Given the description of an element on the screen output the (x, y) to click on. 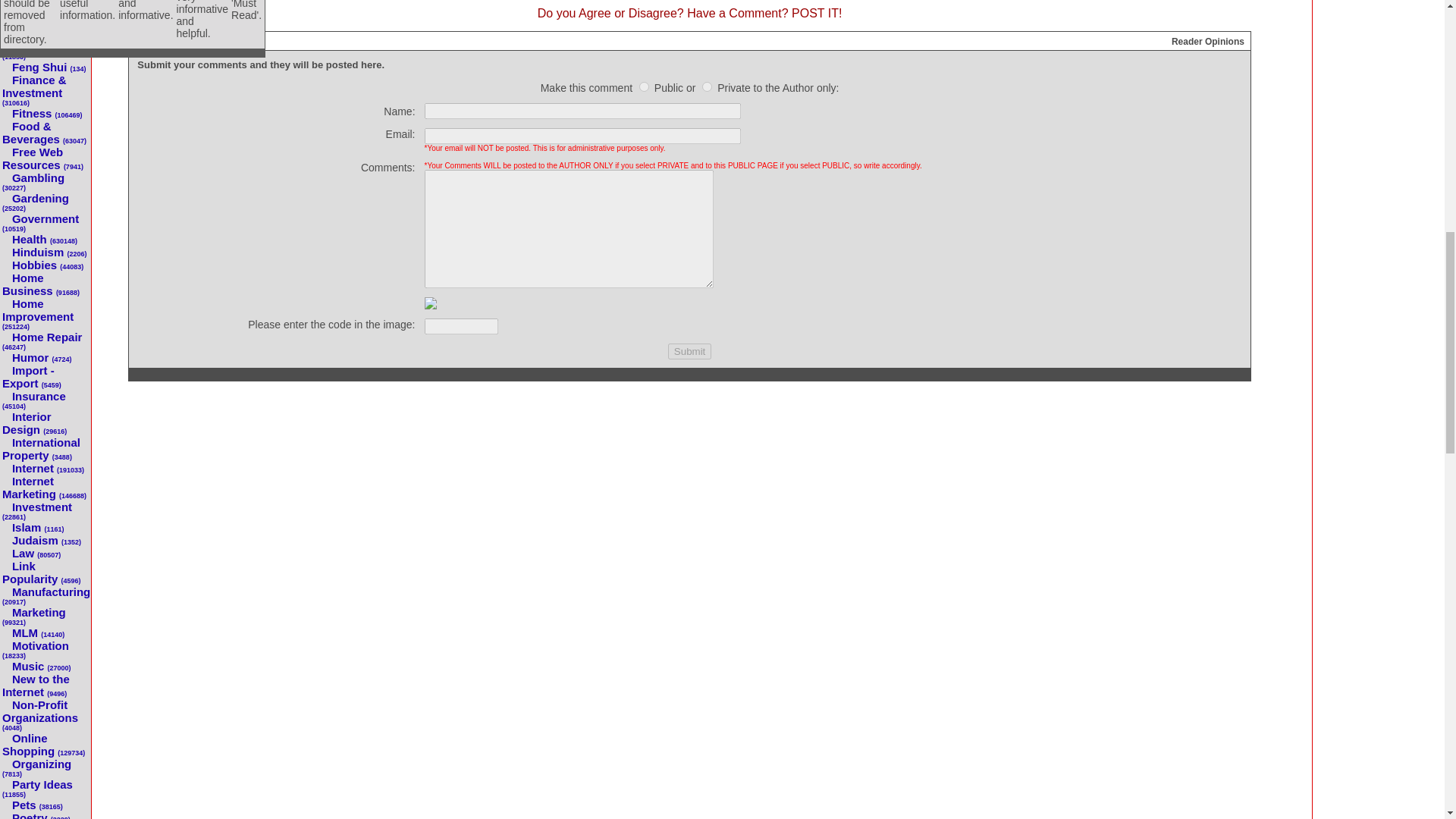
Submit (689, 351)
Public (644, 86)
Private (706, 86)
